Given the description of an element on the screen output the (x, y) to click on. 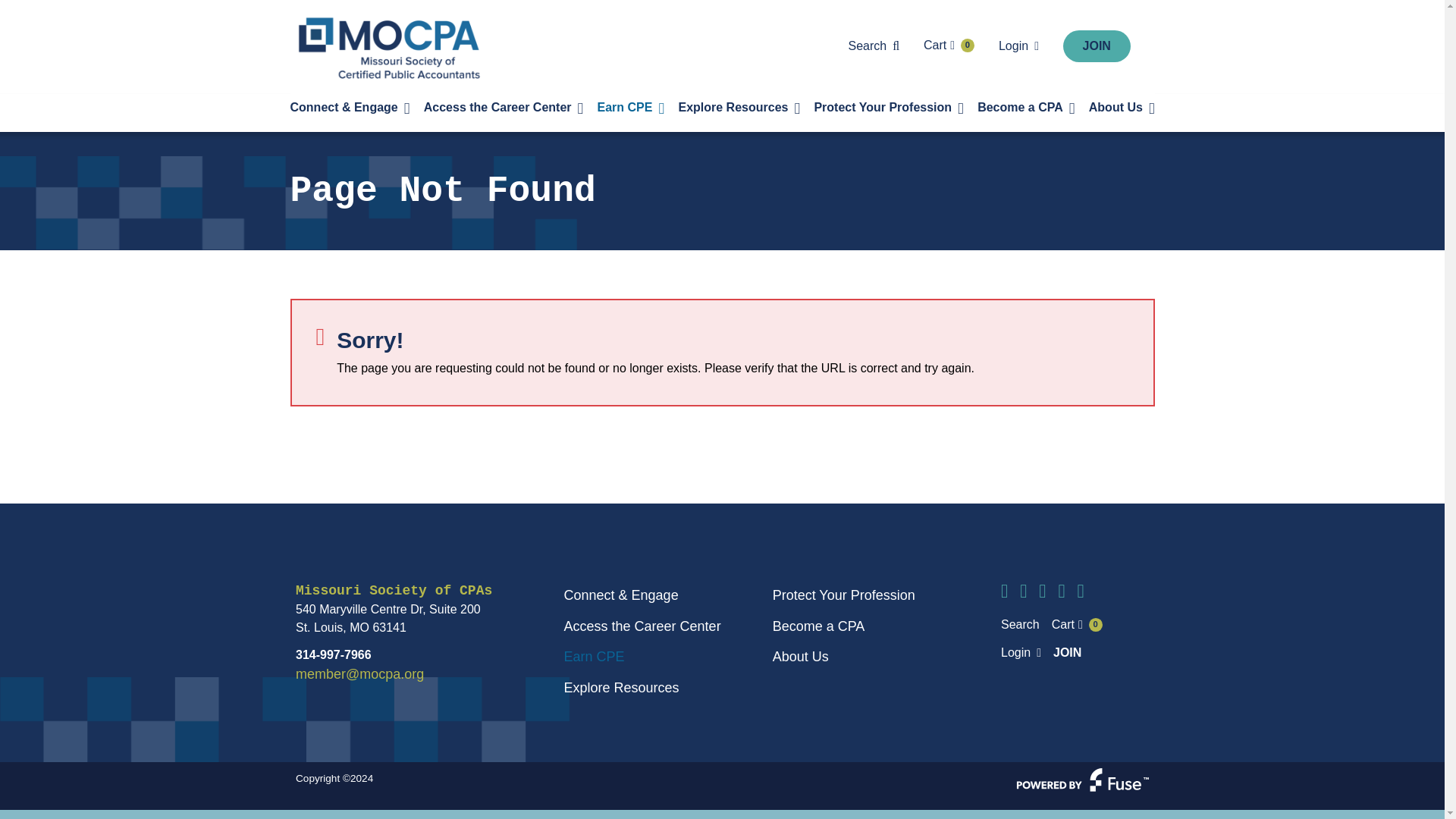
JOIN (1096, 46)
Search (873, 46)
Login (948, 45)
